Given the description of an element on the screen output the (x, y) to click on. 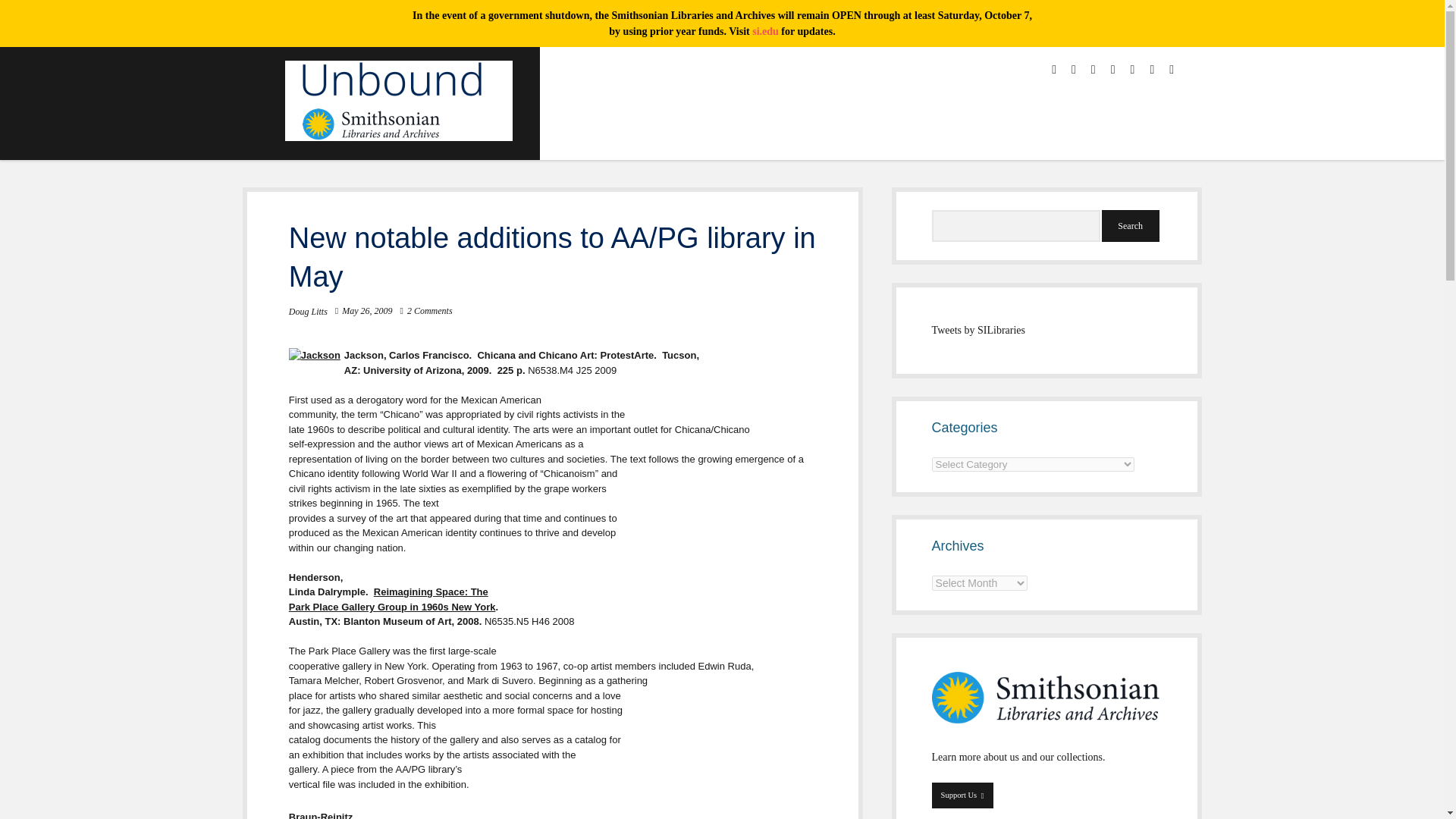
Doug Litts (307, 311)
Search (1130, 225)
si.edu (765, 30)
Search (1130, 225)
Search (1130, 225)
2 Comments (961, 795)
Jackson (429, 310)
Tweets by SILibraries (314, 355)
Search for: (978, 329)
